Given the description of an element on the screen output the (x, y) to click on. 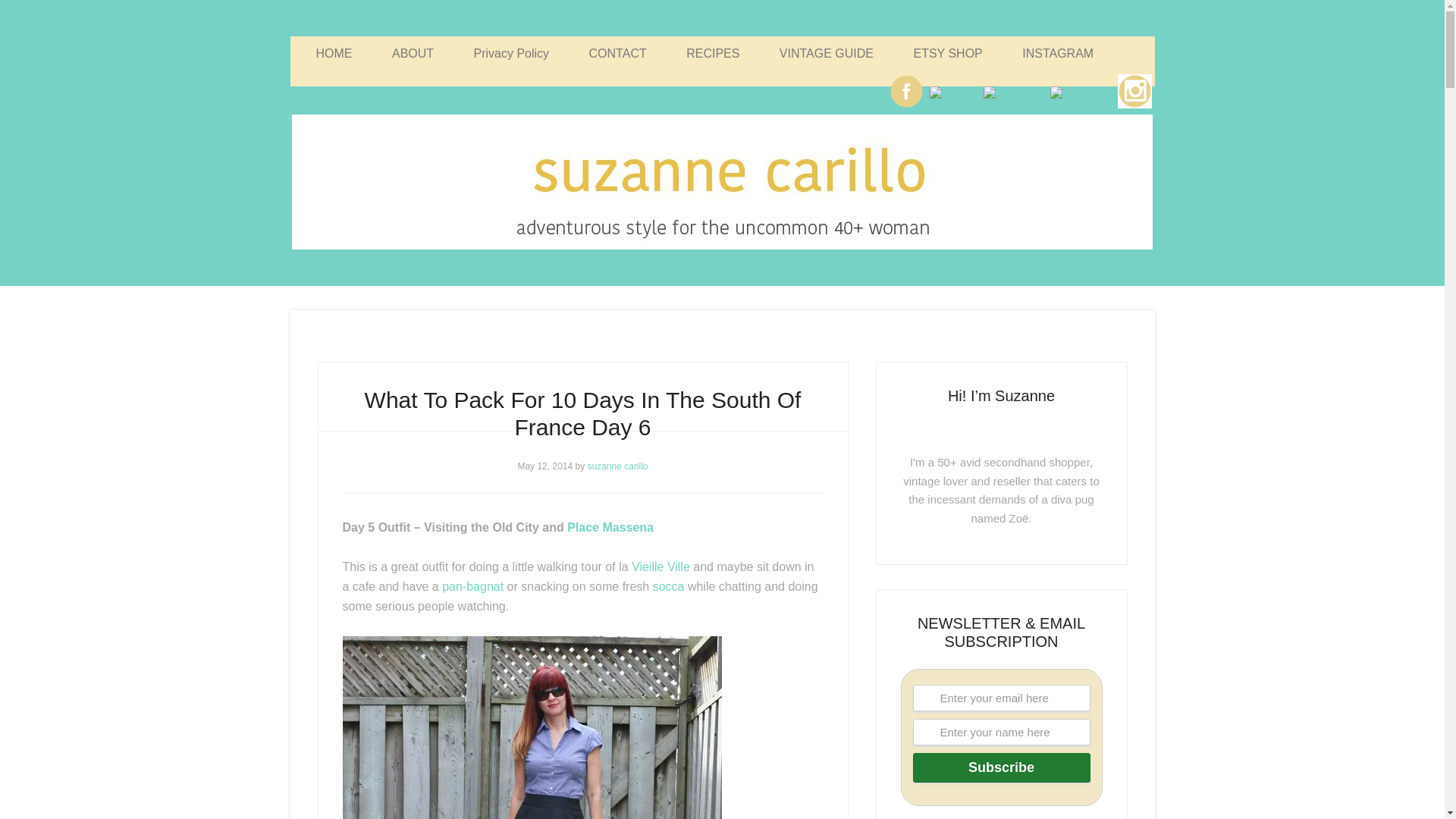
Enter your email here (1001, 697)
Fun Fast Simple Healthy Recipes (712, 53)
RECIPES (712, 53)
Subscribe (1001, 767)
Place Massena (610, 526)
Facebook (906, 106)
Facebook (906, 91)
Privacy Policy (511, 53)
ABOUT (412, 53)
VINTAGE GUIDE (826, 53)
Pinterest (1012, 92)
CONTACT (617, 53)
Instagram (1134, 106)
ETSY SHOP (947, 53)
VINTAGE GUIDE (826, 53)
